Given the description of an element on the screen output the (x, y) to click on. 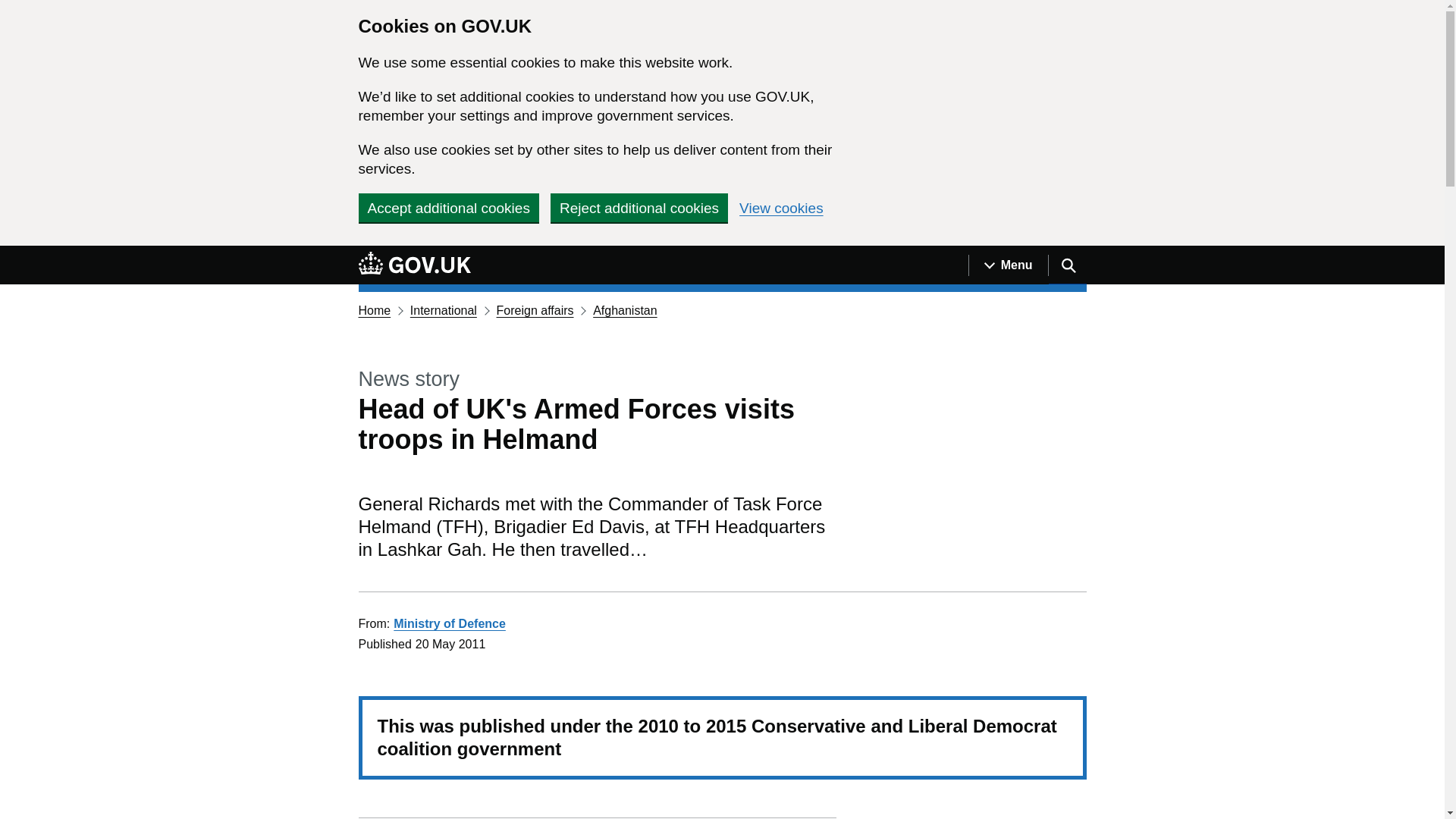
Home (374, 309)
GOV.UK (414, 262)
GOV.UK (414, 264)
Afghanistan (625, 309)
International (443, 309)
View cookies (781, 207)
Menu (1008, 265)
Accept additional cookies (448, 207)
Ministry of Defence (449, 623)
Search GOV.UK (1067, 265)
Reject additional cookies (639, 207)
Foreign affairs (534, 309)
Skip to main content (11, 254)
